Given the description of an element on the screen output the (x, y) to click on. 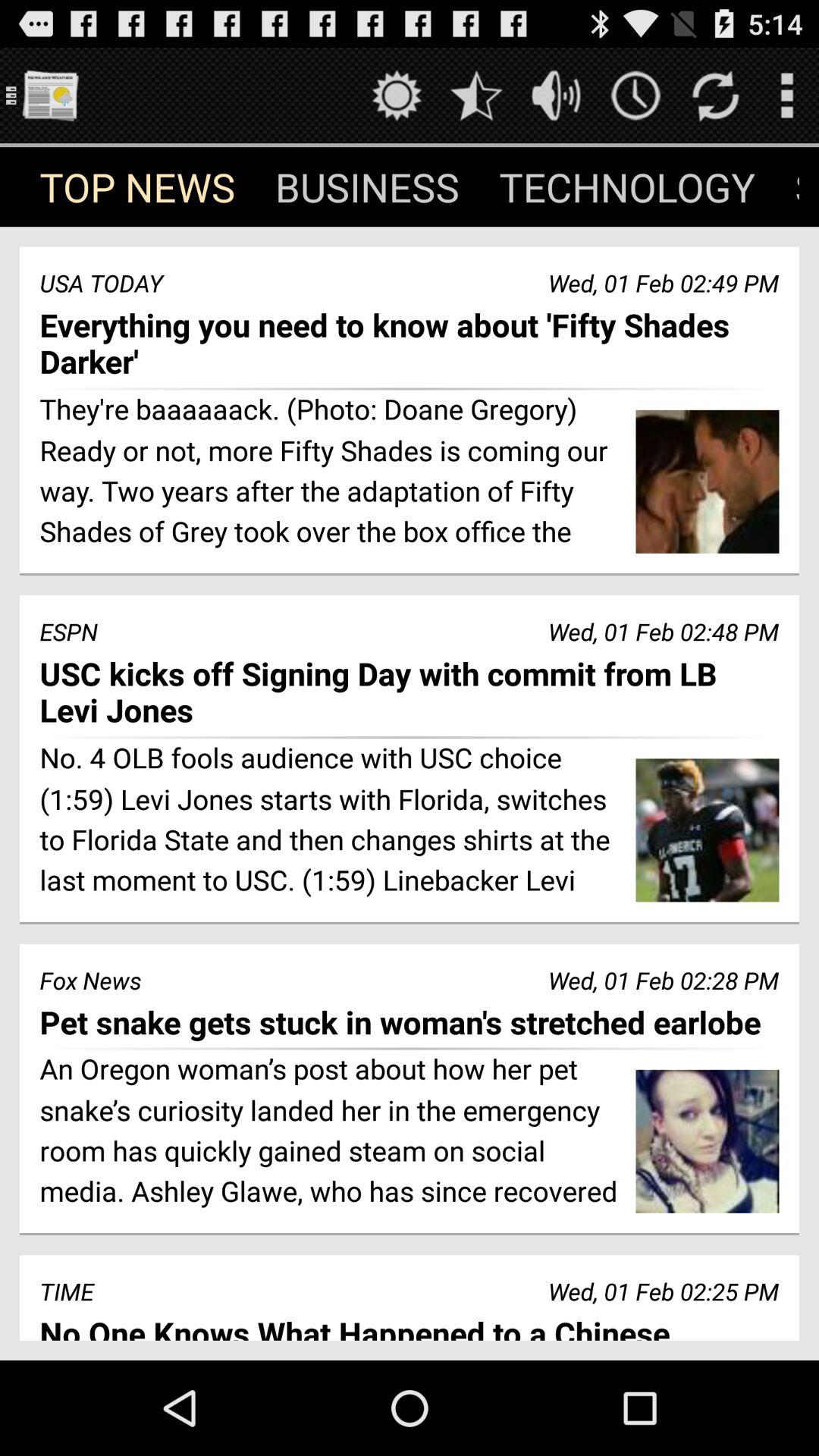
refresh page (715, 95)
